Given the description of an element on the screen output the (x, y) to click on. 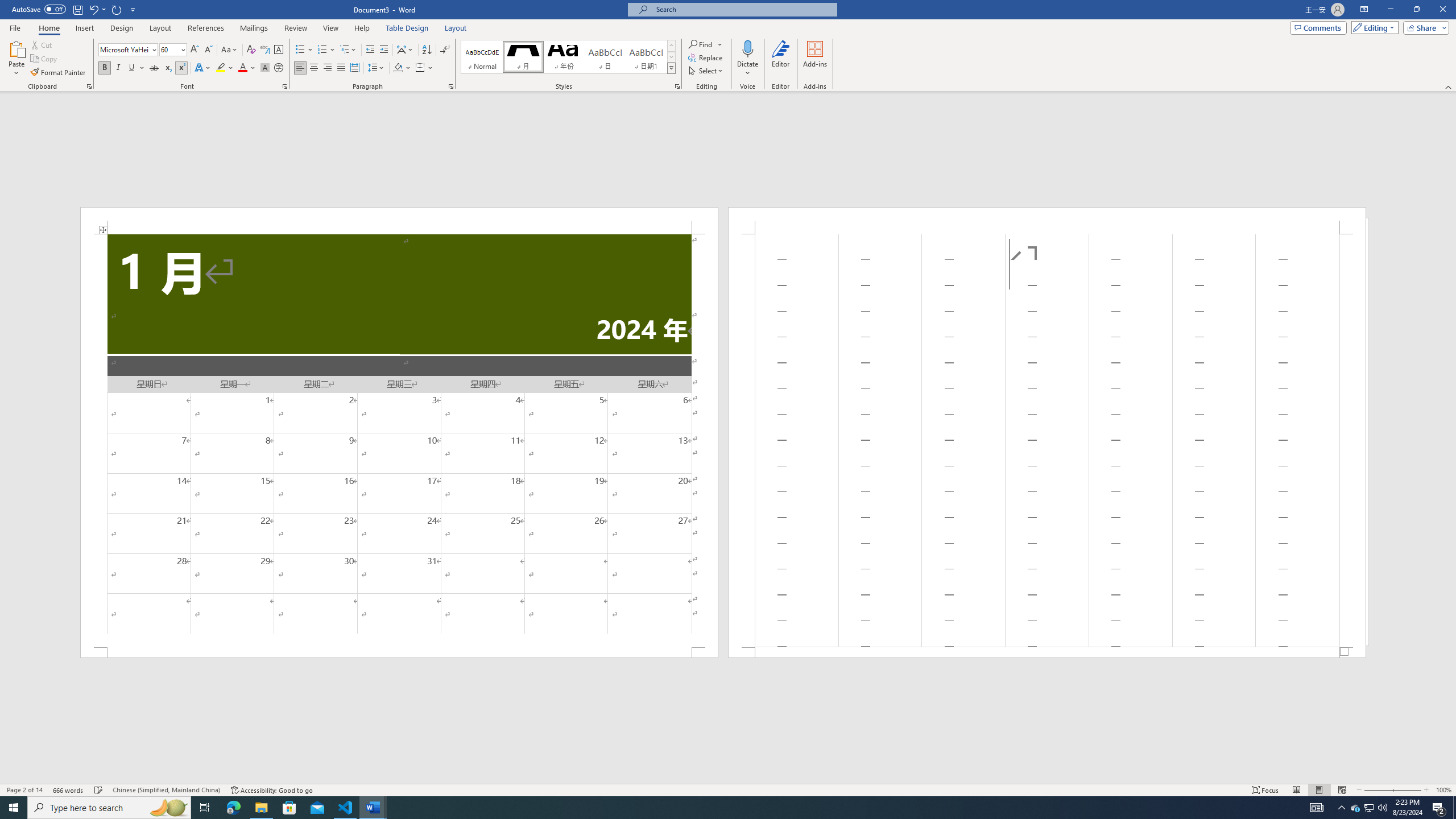
Comments (1318, 27)
Accessibility Checker Accessibility: Good to go (271, 790)
Microsoft search (742, 9)
Editor (780, 58)
Change Case (229, 49)
Ribbon Display Options (1364, 9)
Class: NetUIScrollBar (728, 778)
Sort... (426, 49)
Styles (670, 67)
Character Shading (264, 67)
Font (128, 49)
Shading RGB(0, 0, 0) (397, 67)
Customize Quick Access Toolbar (133, 9)
Row Down (670, 56)
Asian Layout (405, 49)
